Given the description of an element on the screen output the (x, y) to click on. 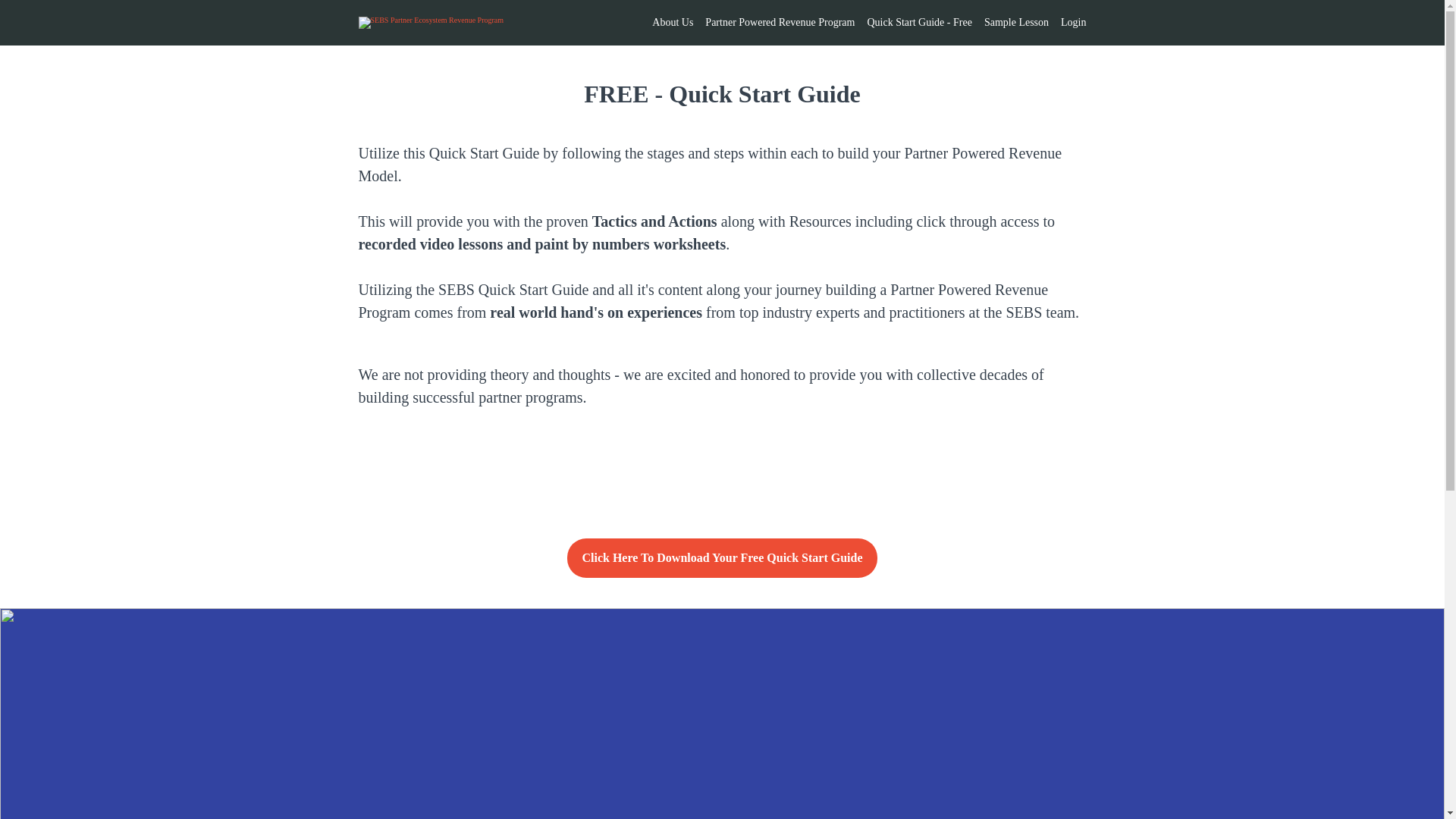
Click Here To Download Your Free Quick Start Guide (721, 558)
Sample Lesson (1016, 22)
Click Here To Download Your Free Quick Start Guide (721, 559)
Login (1073, 22)
Quick Start Guide - Free (918, 22)
Partner Powered Revenue Program (779, 22)
About Us (672, 22)
